Given the description of an element on the screen output the (x, y) to click on. 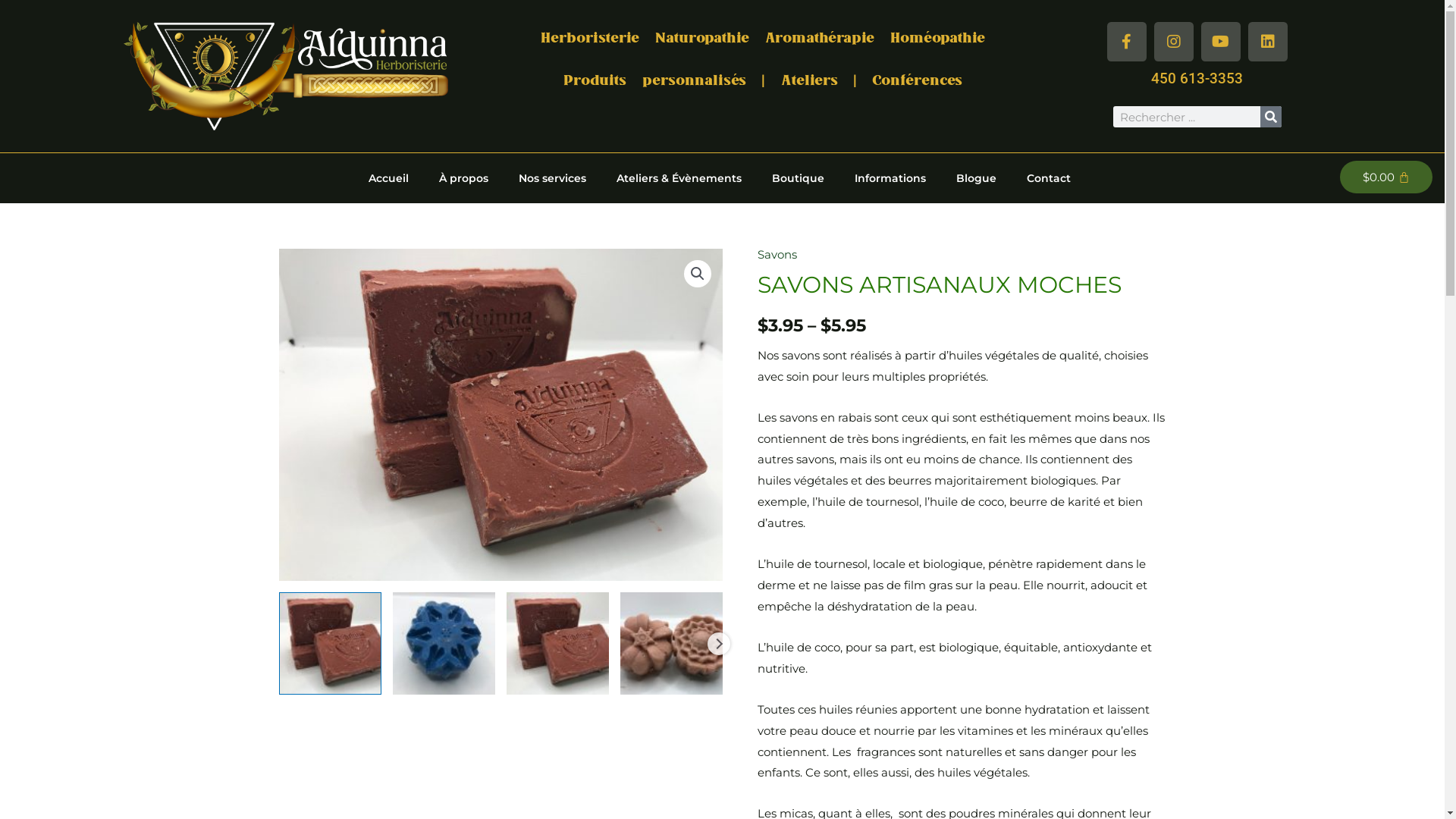
450 613-3353 Element type: text (1196, 78)
Contact Element type: text (1048, 177)
Nos services Element type: text (552, 177)
Accueil Element type: text (388, 177)
Savons_argile_rouge_Moche_Arduinna_1_Herboristerie Element type: hover (500, 414)
Blogue Element type: text (976, 177)
Savons Element type: text (777, 254)
Informations Element type: text (890, 177)
$0.00 Element type: text (1385, 176)
Next Element type: text (717, 643)
Boutique Element type: text (797, 177)
